Given the description of an element on the screen output the (x, y) to click on. 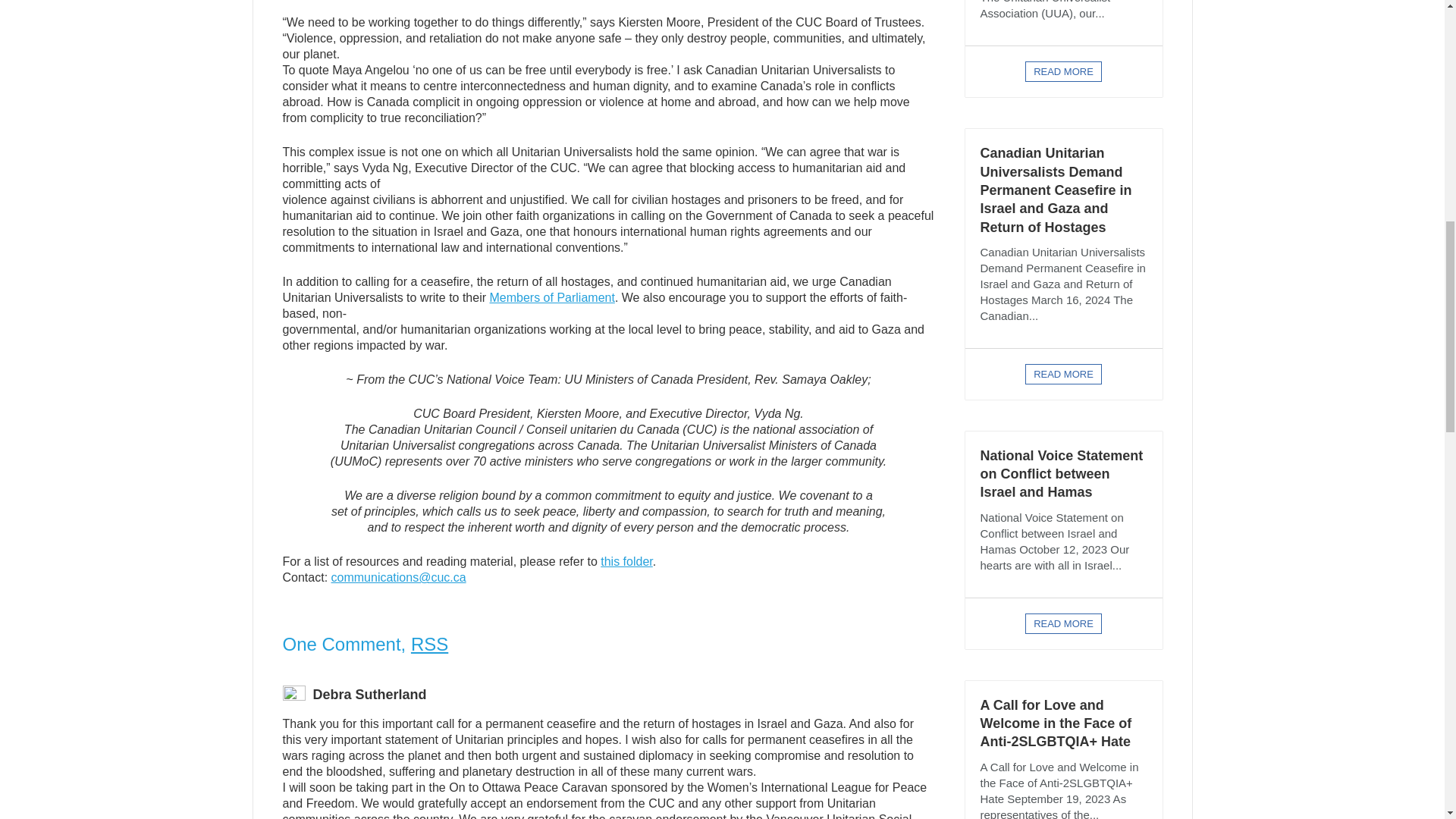
Read more (1063, 373)
Comments RSS (429, 643)
Read more (1063, 71)
